Given the description of an element on the screen output the (x, y) to click on. 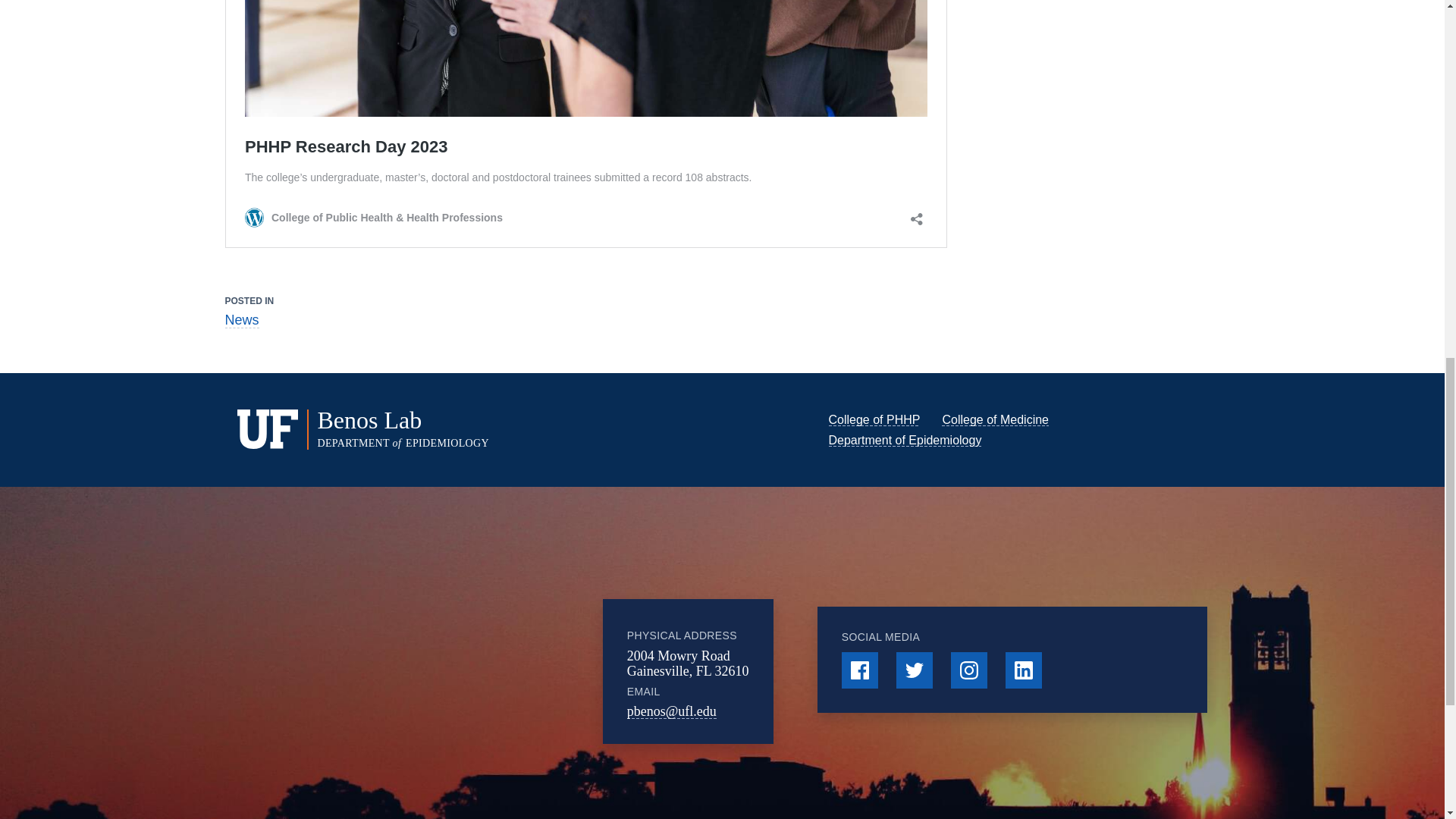
Department of Epidemiology (904, 440)
Google Maps Embed (478, 671)
College of PHHP (874, 419)
College of Medicine (995, 419)
